Given the description of an element on the screen output the (x, y) to click on. 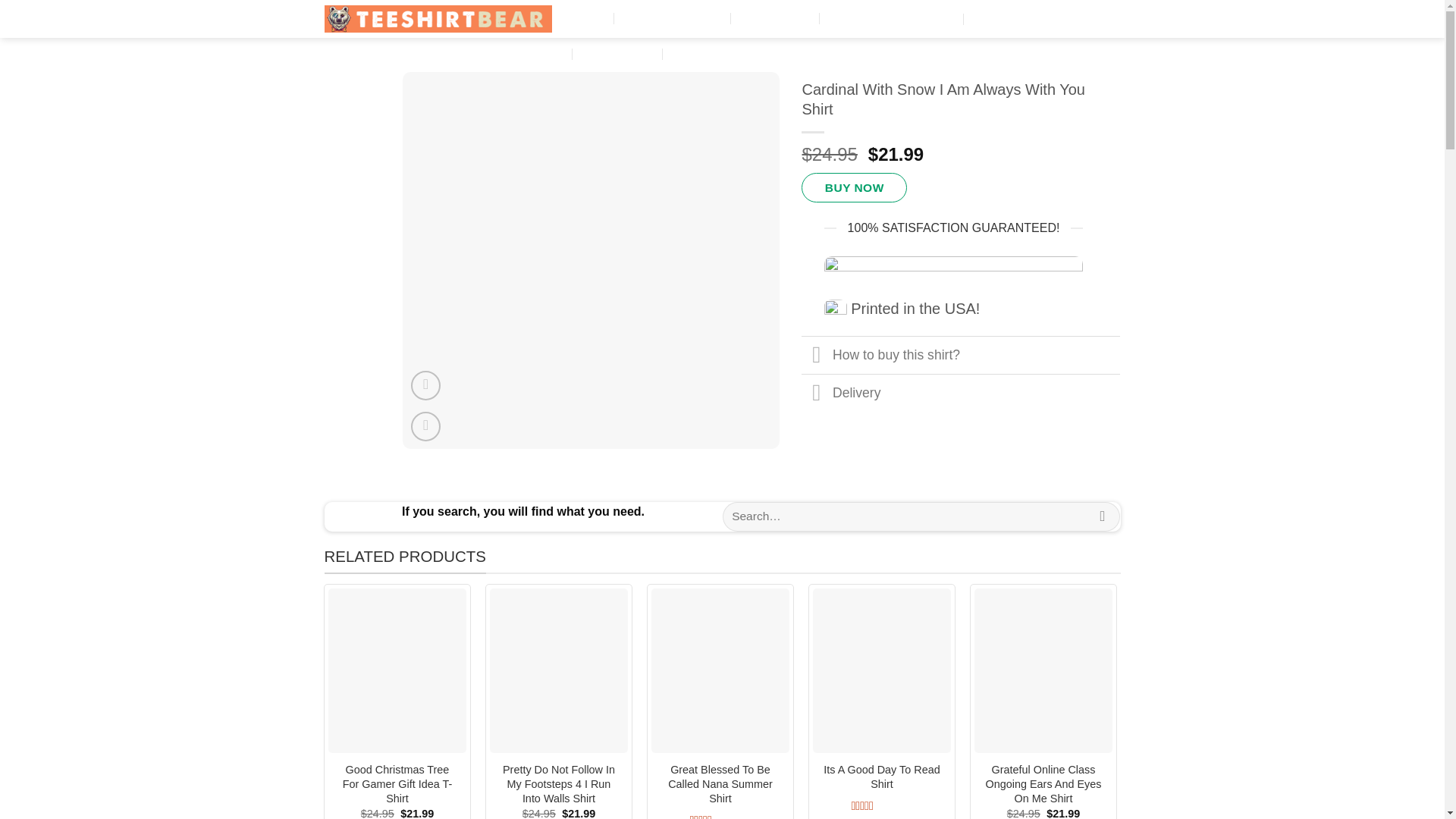
Zoom (425, 426)
HALLOWEEN (776, 18)
TRENDING (858, 18)
CHRISTMAS TEES (673, 18)
Video (425, 385)
CONTACT US (708, 53)
How to buy this shirt? (960, 354)
BUY NOW (854, 187)
HOME (591, 18)
